Given the description of an element on the screen output the (x, y) to click on. 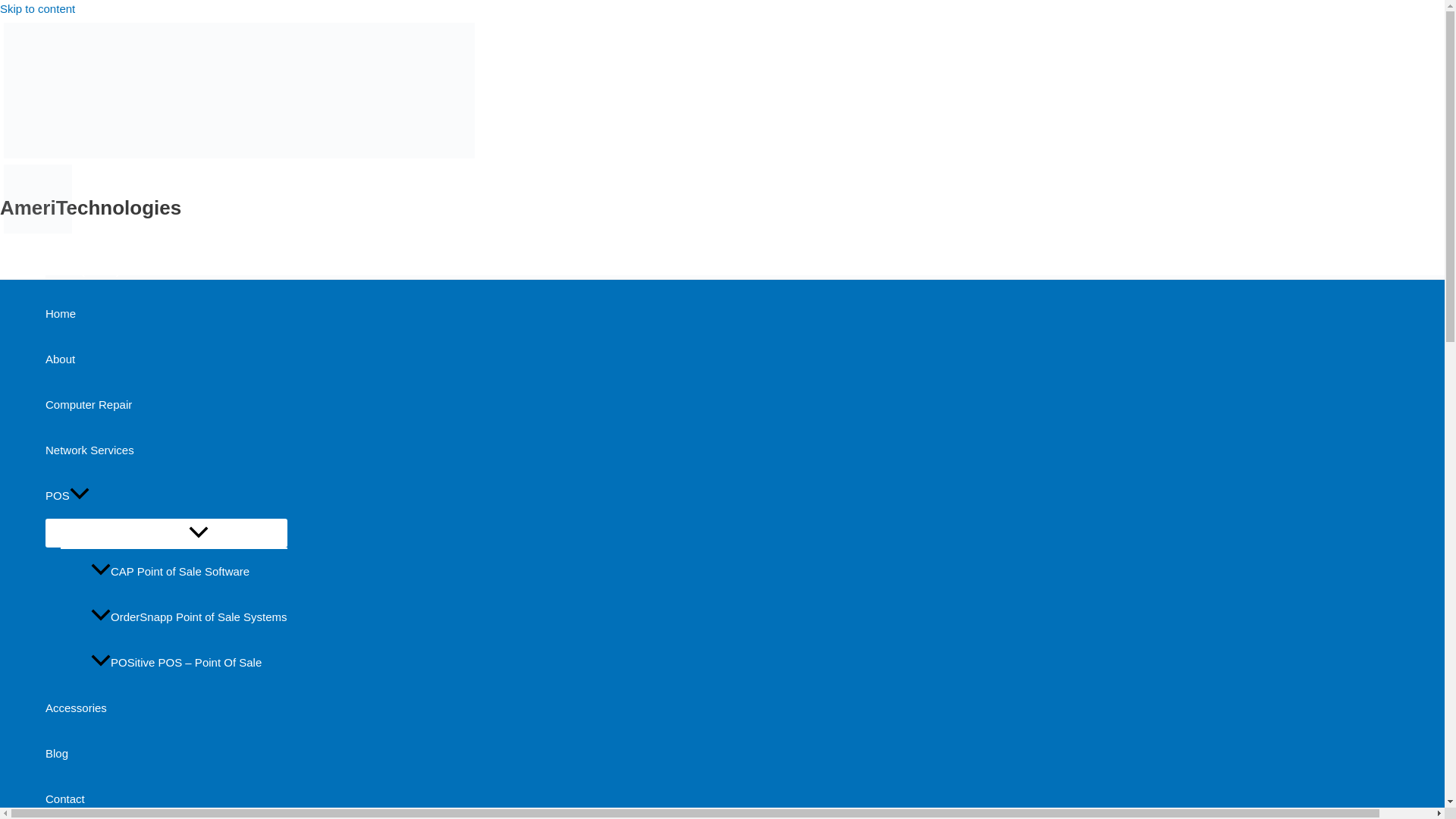
About (165, 359)
POS (165, 495)
Skip to content (37, 8)
Skip to content (37, 8)
Menu Toggle (165, 532)
Home (165, 313)
Accessories (165, 708)
Contact (165, 797)
Computer Repair (165, 404)
OrderSnapp Point of Sale Systems (188, 616)
